Given the description of an element on the screen output the (x, y) to click on. 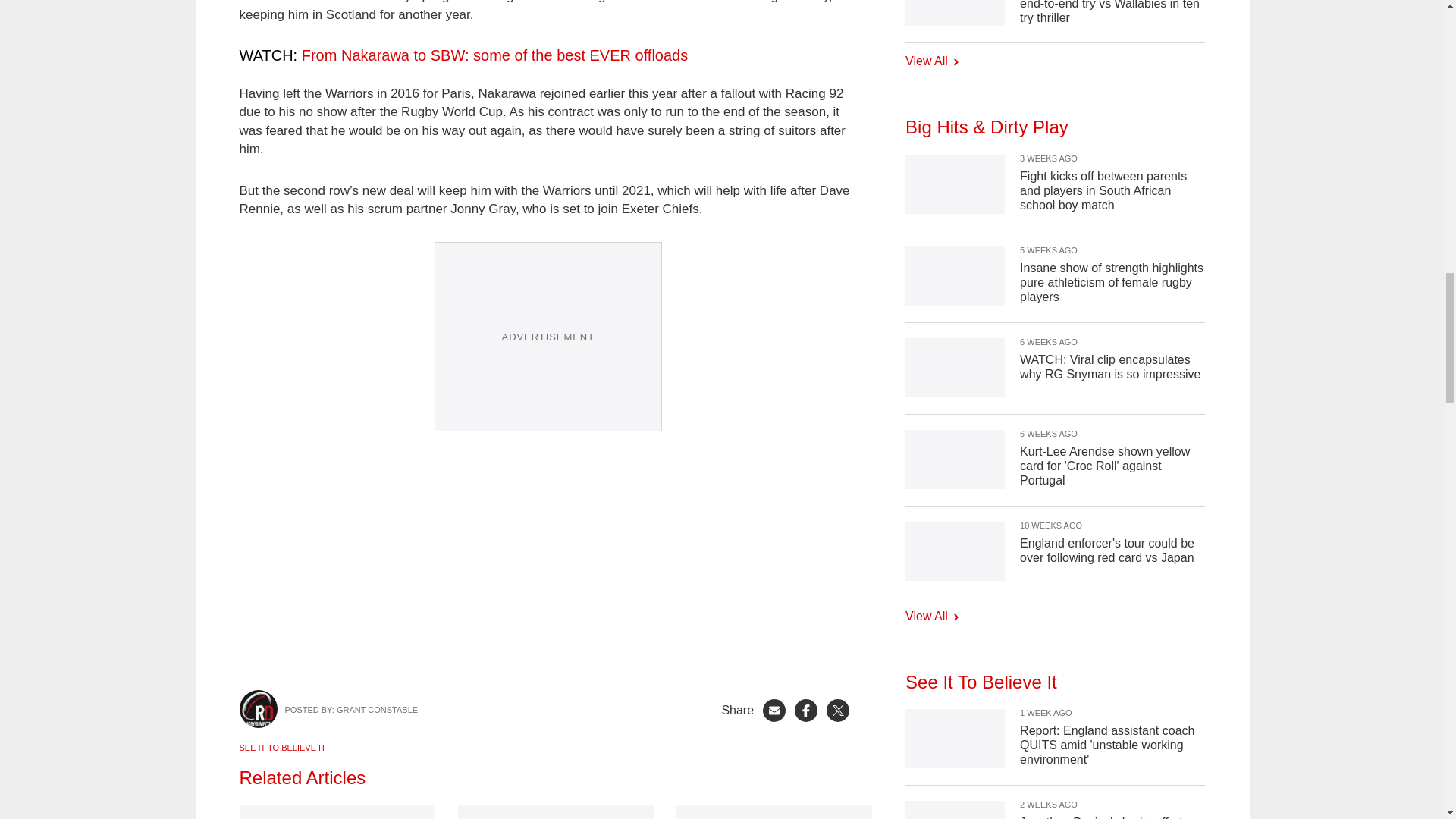
Leone Nakarawa - Making The Impossible Look Easy (548, 560)
From Nakarawa to SBW: some of the best EVER offloads (494, 54)
GRANT CONSTABLE (376, 709)
